Given the description of an element on the screen output the (x, y) to click on. 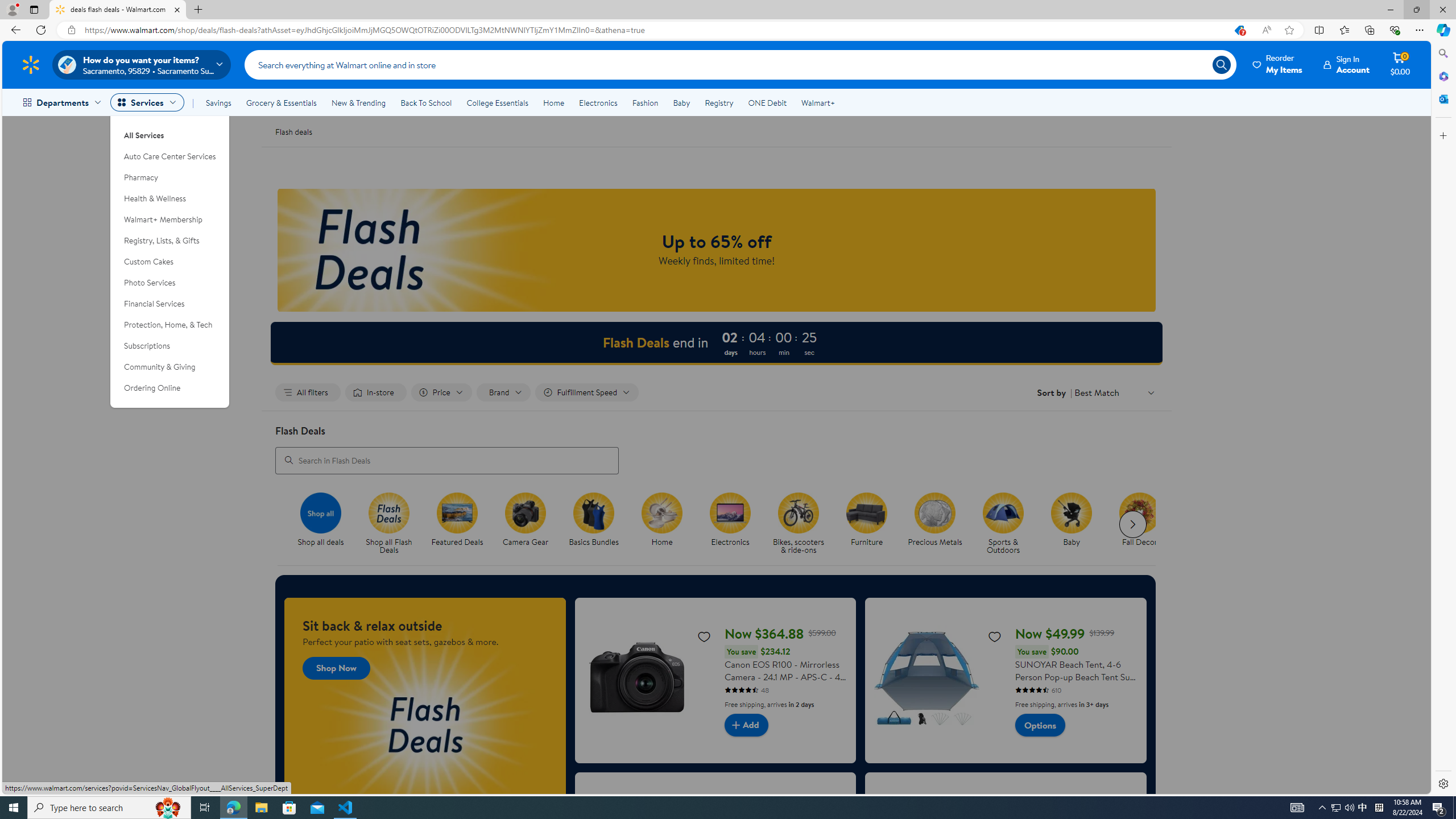
Shop all (319, 512)
Walmart Homepage (30, 64)
Ordering Online (170, 387)
Savings (217, 102)
Featured Deals (462, 524)
Protection, Home, & Tech (170, 324)
Sign In Account (1347, 64)
ONE Debit (767, 102)
Electronics (730, 512)
